Given the description of an element on the screen output the (x, y) to click on. 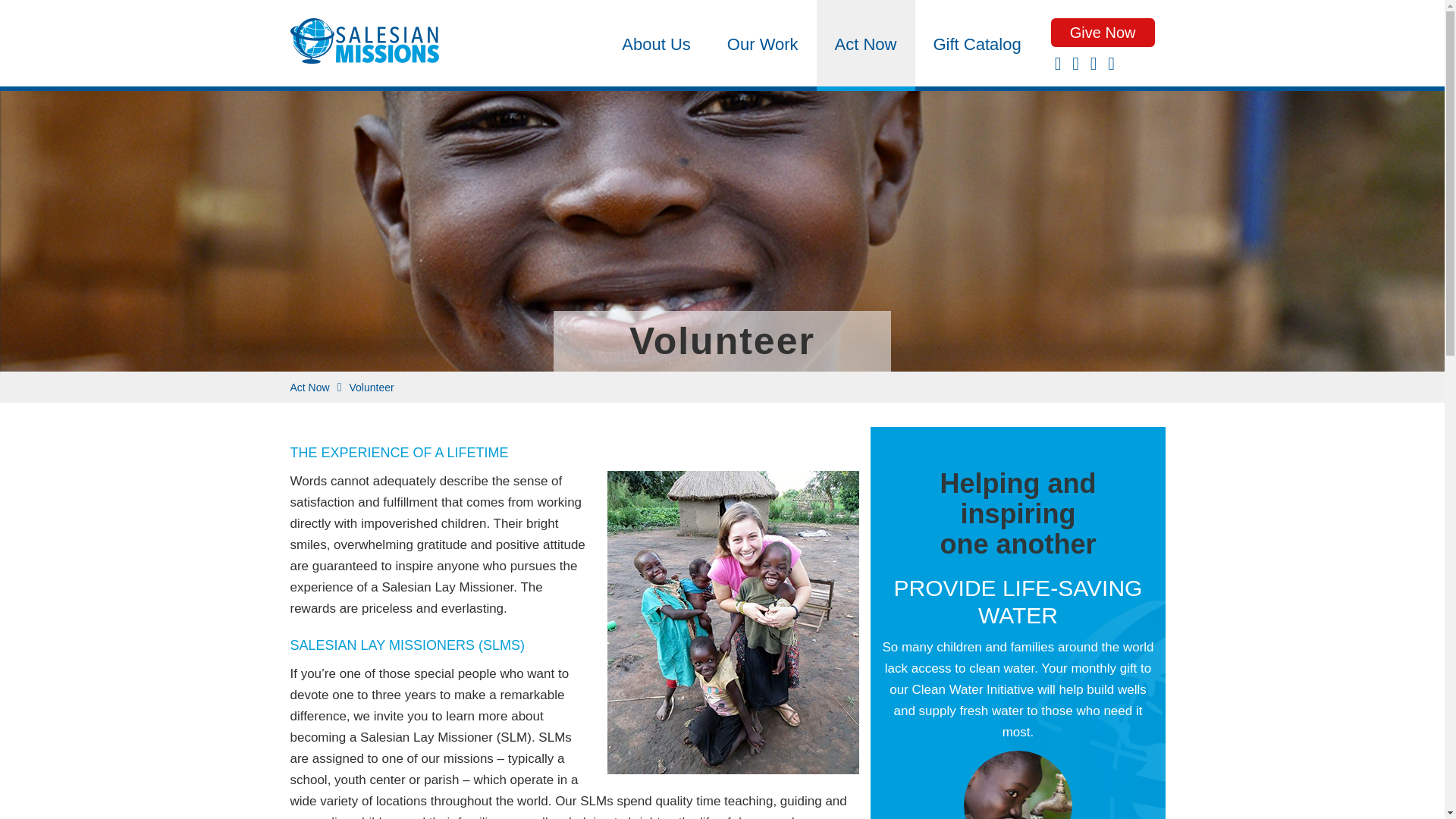
About Us (656, 43)
Volunteer (371, 387)
Our Work (762, 43)
Act Now (865, 43)
stories03 (1017, 785)
Act Now (309, 387)
Salesian Missions (363, 45)
